Given the description of an element on the screen output the (x, y) to click on. 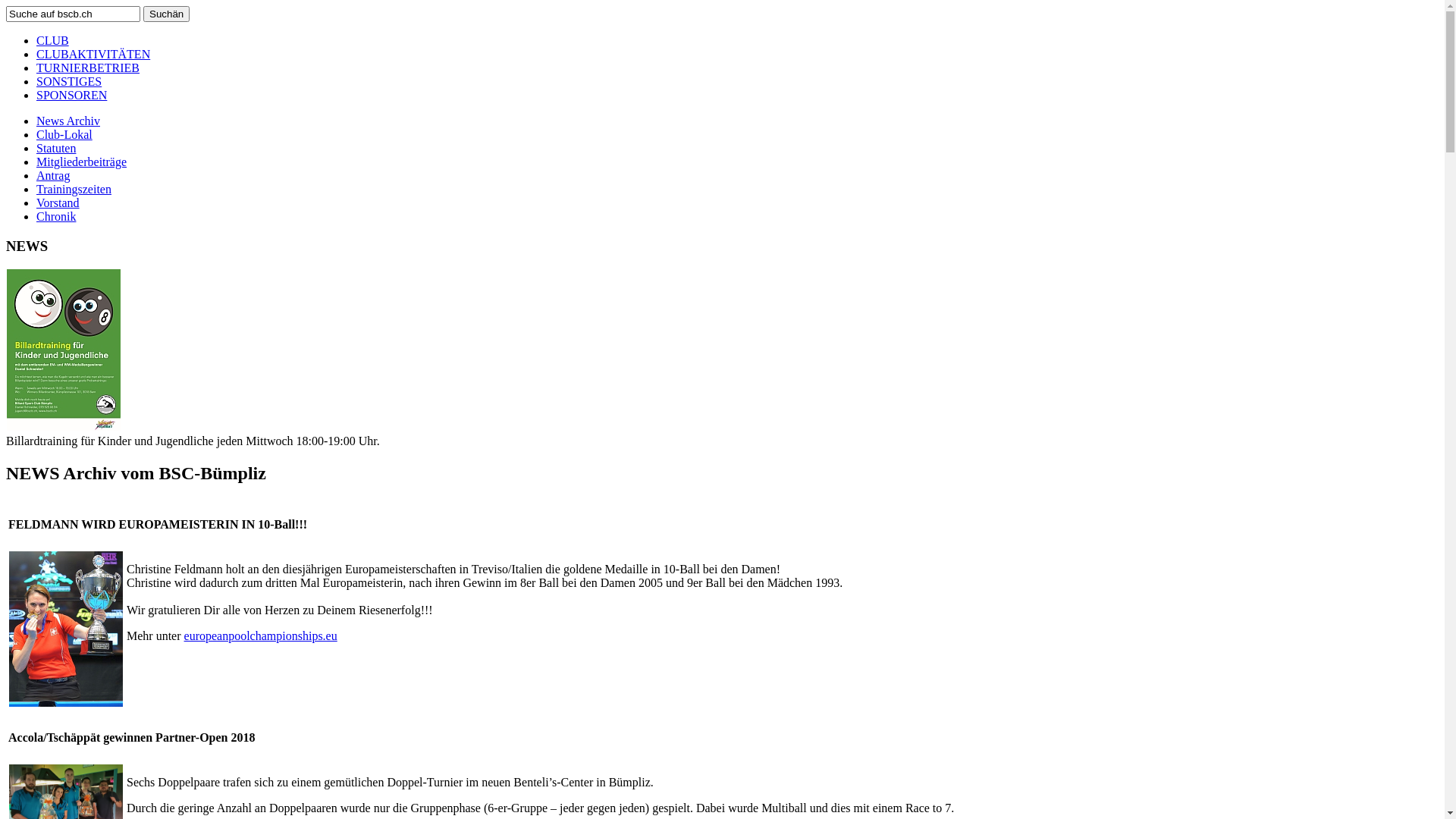
Vorstand Element type: text (57, 202)
CLUB Element type: text (52, 40)
europeanpoolchampionships.eu Element type: text (260, 635)
Club-Lokal Element type: text (64, 134)
Statuten Element type: text (55, 147)
Chronik Element type: text (55, 216)
TURNIERBETRIEB Element type: text (87, 67)
News Archiv Element type: text (68, 120)
Trainingszeiten Element type: text (73, 188)
SONSTIGES Element type: text (68, 81)
Antrag Element type: text (52, 175)
SPONSOREN Element type: text (71, 94)
